Given the description of an element on the screen output the (x, y) to click on. 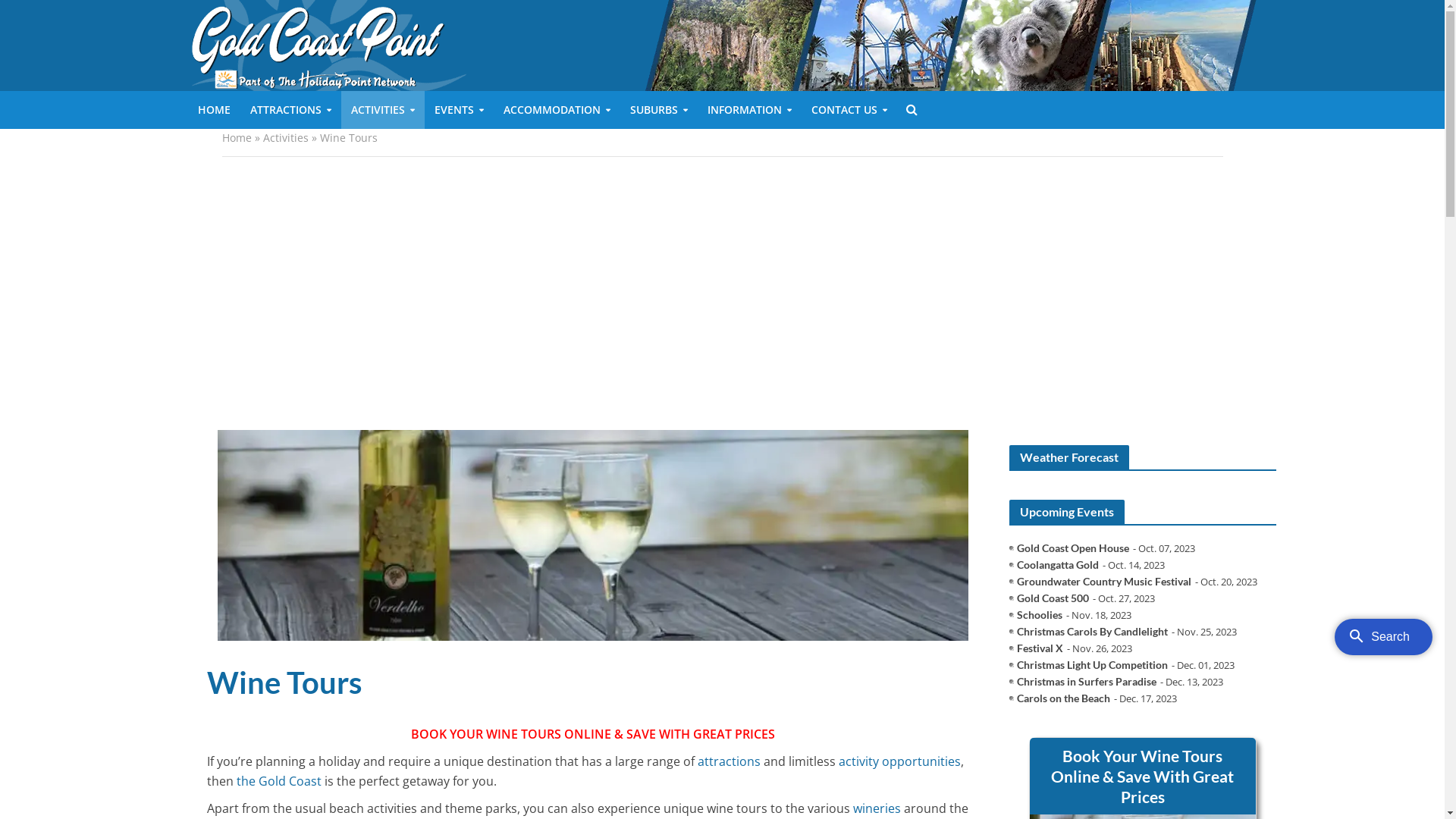
Coolangatta Gold Element type: text (1057, 564)
Christmas in Surfers Paradise Element type: text (1086, 681)
Schoolies Element type: text (1039, 614)
Carols on the Beach Element type: text (1063, 698)
EVENTS Element type: text (458, 109)
Christmas Carols By Candlelight Element type: text (1091, 631)
INFORMATION Element type: text (749, 109)
Advertisement Element type: hover (721, 293)
activity opportunities Element type: text (899, 762)
Gold Coast Open House Element type: text (1072, 547)
Christmas Light Up Competition Element type: text (1091, 664)
Home Element type: text (236, 137)
Activities Element type: text (284, 137)
ATTRACTIONS Element type: text (289, 109)
HOME Element type: text (214, 109)
Groundwater Country Music Festival Element type: text (1103, 581)
ACCOMMODATION Element type: text (555, 109)
attractions Element type: text (728, 762)
SUBURBS Element type: text (658, 109)
Festival X Element type: text (1039, 647)
ACTIVITIES Element type: text (382, 109)
Gold Coast 500 Element type: text (1052, 597)
CONTACT US Element type: text (848, 109)
the Gold Coast Element type: text (278, 782)
